Given the description of an element on the screen output the (x, y) to click on. 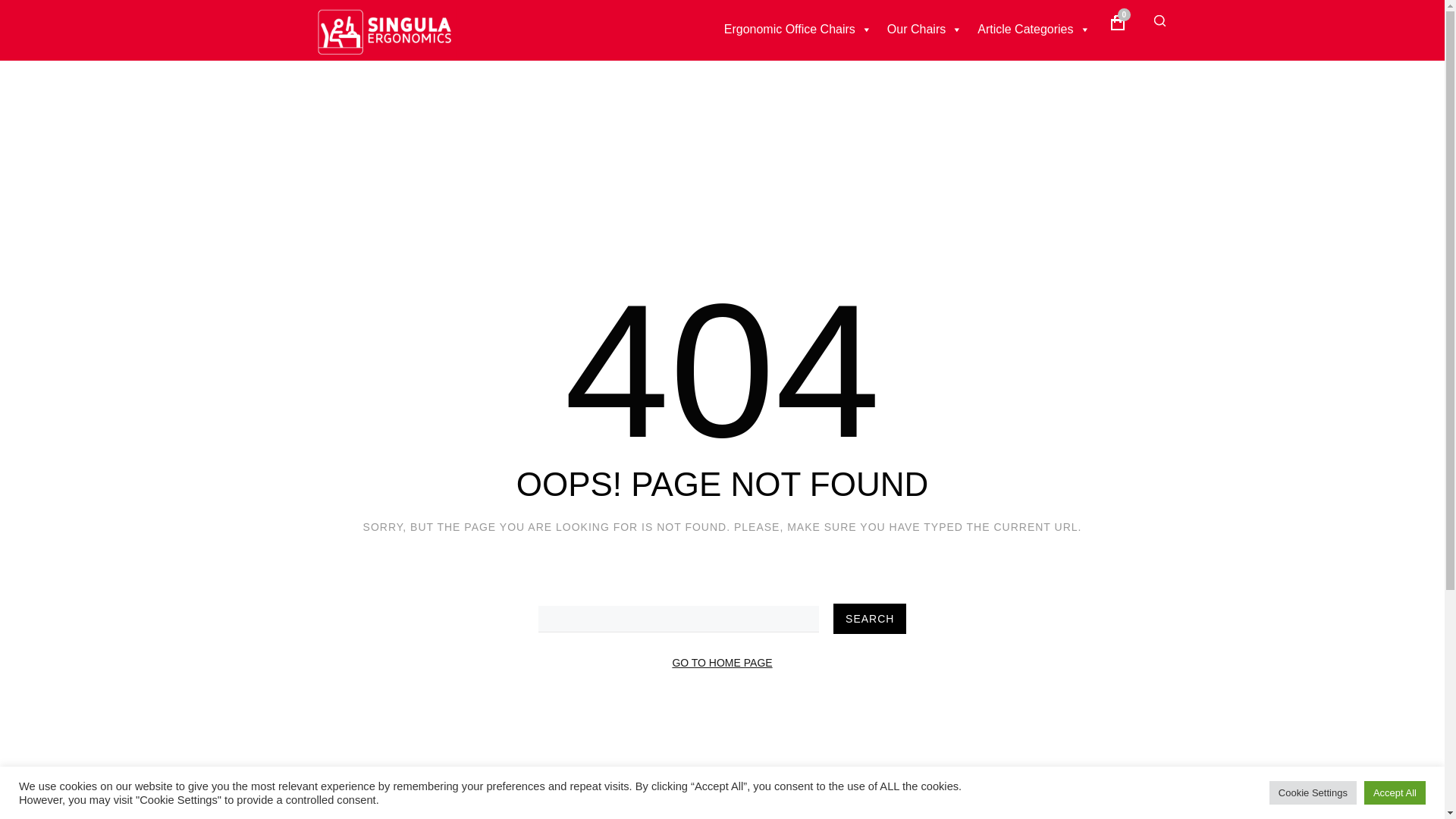
GO TO HOME PAGE (721, 662)
Cookie Settings (1312, 792)
Search (868, 618)
Ergonomic Office Chairs (797, 28)
Accept All (1394, 792)
Our Chairs (924, 28)
Search (868, 618)
Article Categories (1033, 28)
Search (1142, 102)
